Given the description of an element on the screen output the (x, y) to click on. 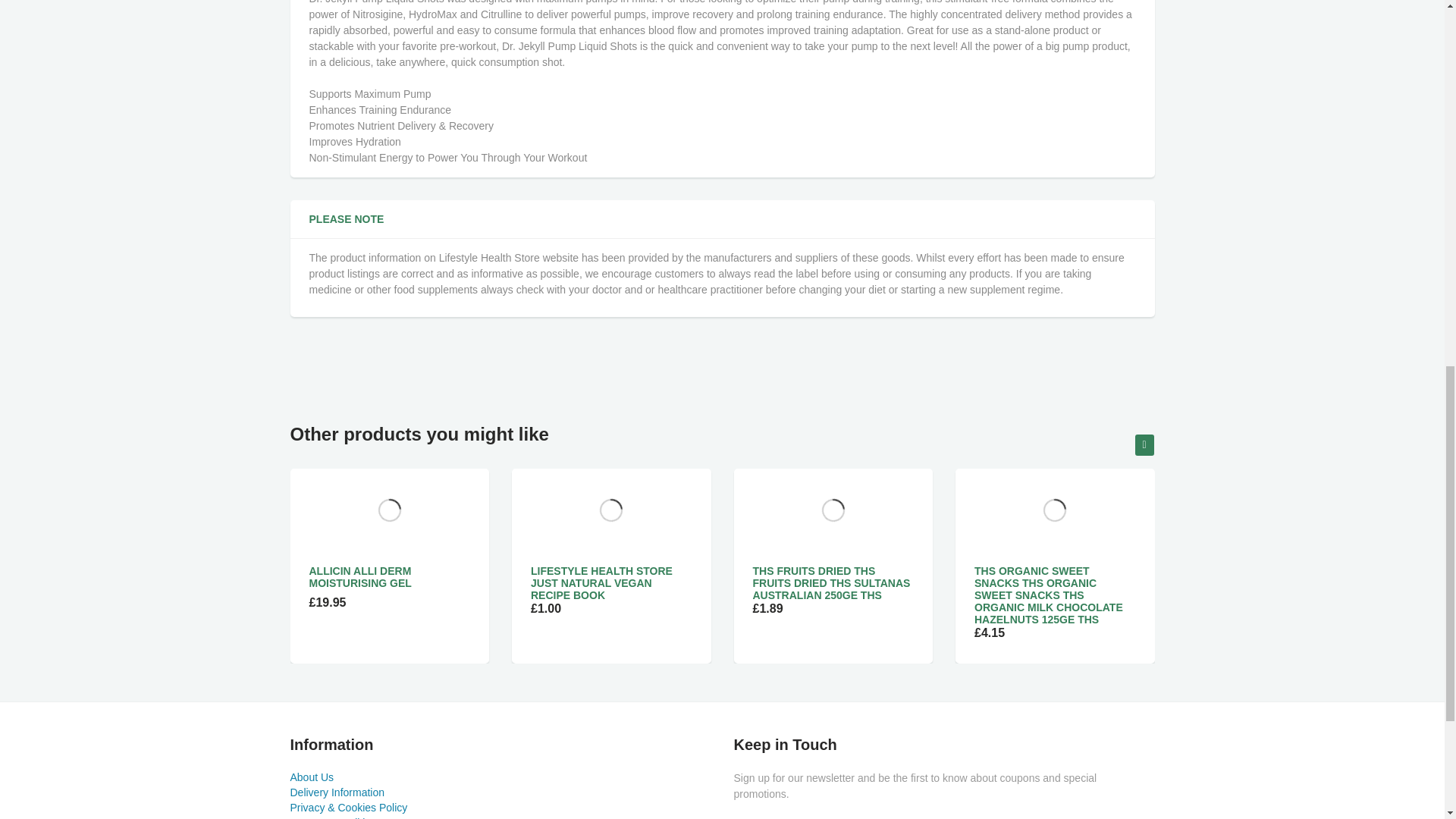
LIFESTYLE HEALTH STORE JUST NATURAL VEGAN RECIPE BOOK (601, 583)
ALLICIN ALLI DERM MOISTURISING GEL (360, 576)
